Given the description of an element on the screen output the (x, y) to click on. 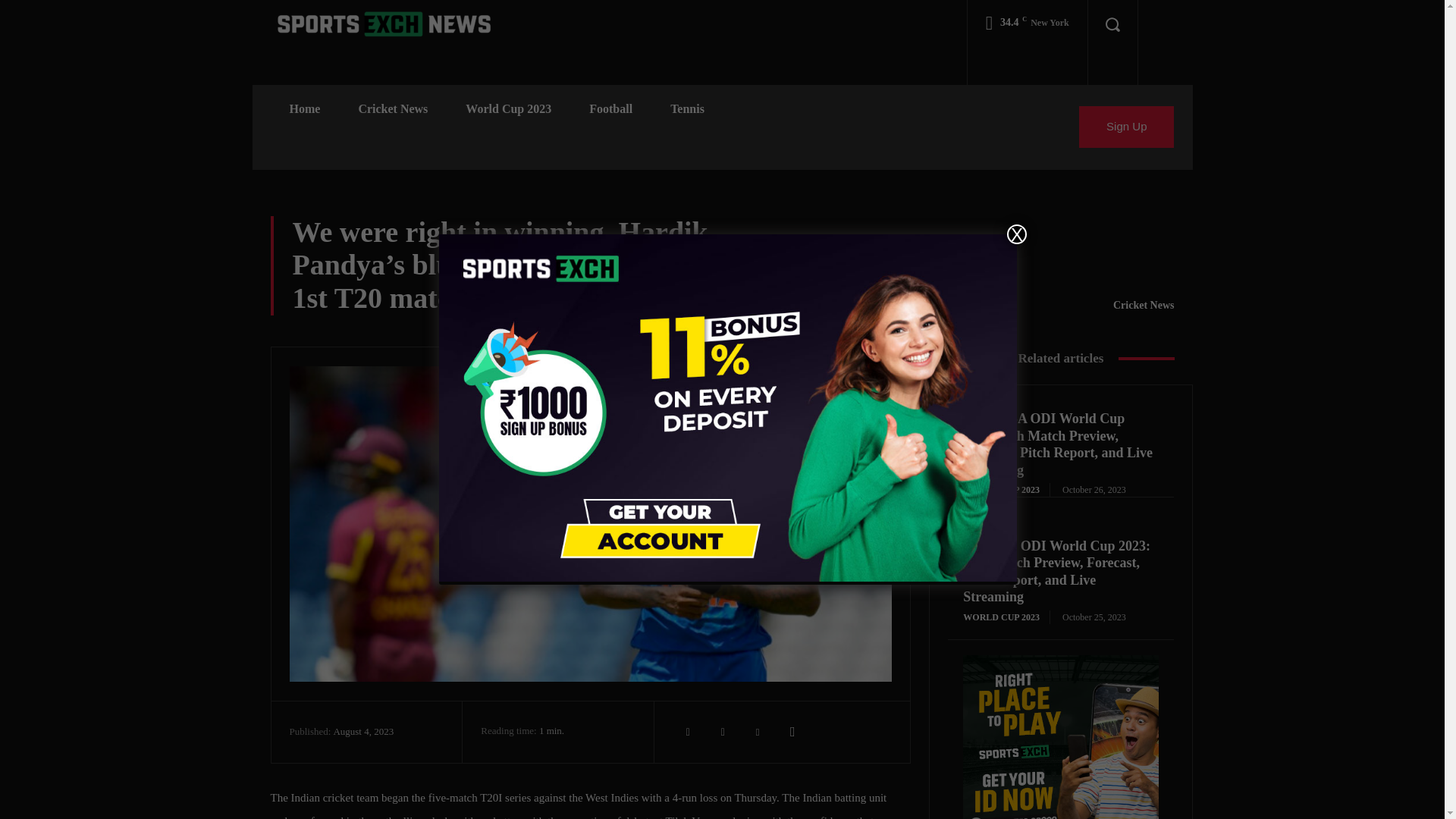
WhatsApp (792, 731)
Home (304, 109)
Twitter (722, 731)
Facebook (687, 731)
Cricket News (392, 109)
Sign Up (1125, 127)
Tennis (686, 109)
World Cup 2023 (508, 109)
Football (610, 109)
Pinterest (757, 731)
Sign Up (1125, 127)
Cricket News (1143, 305)
